Given the description of an element on the screen output the (x, y) to click on. 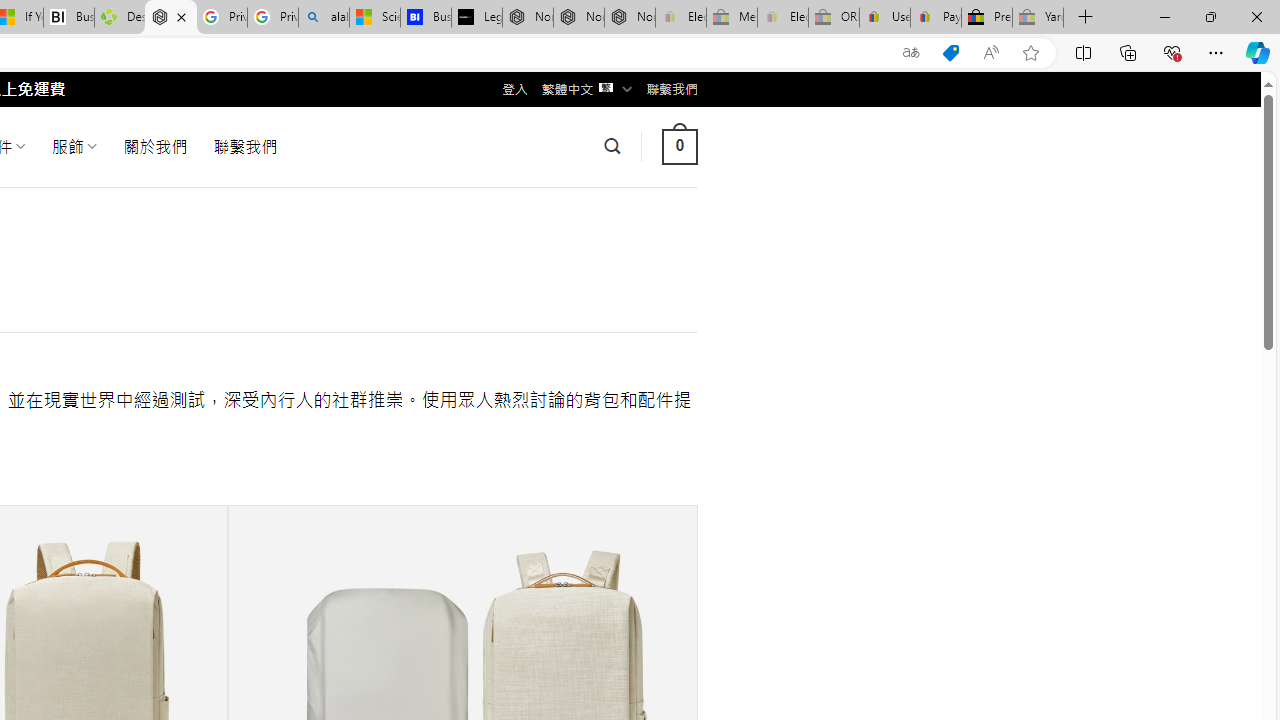
Collections (1128, 52)
Show translate options (910, 53)
Payments Terms of Use | eBay.com (936, 17)
